Given the description of an element on the screen output the (x, y) to click on. 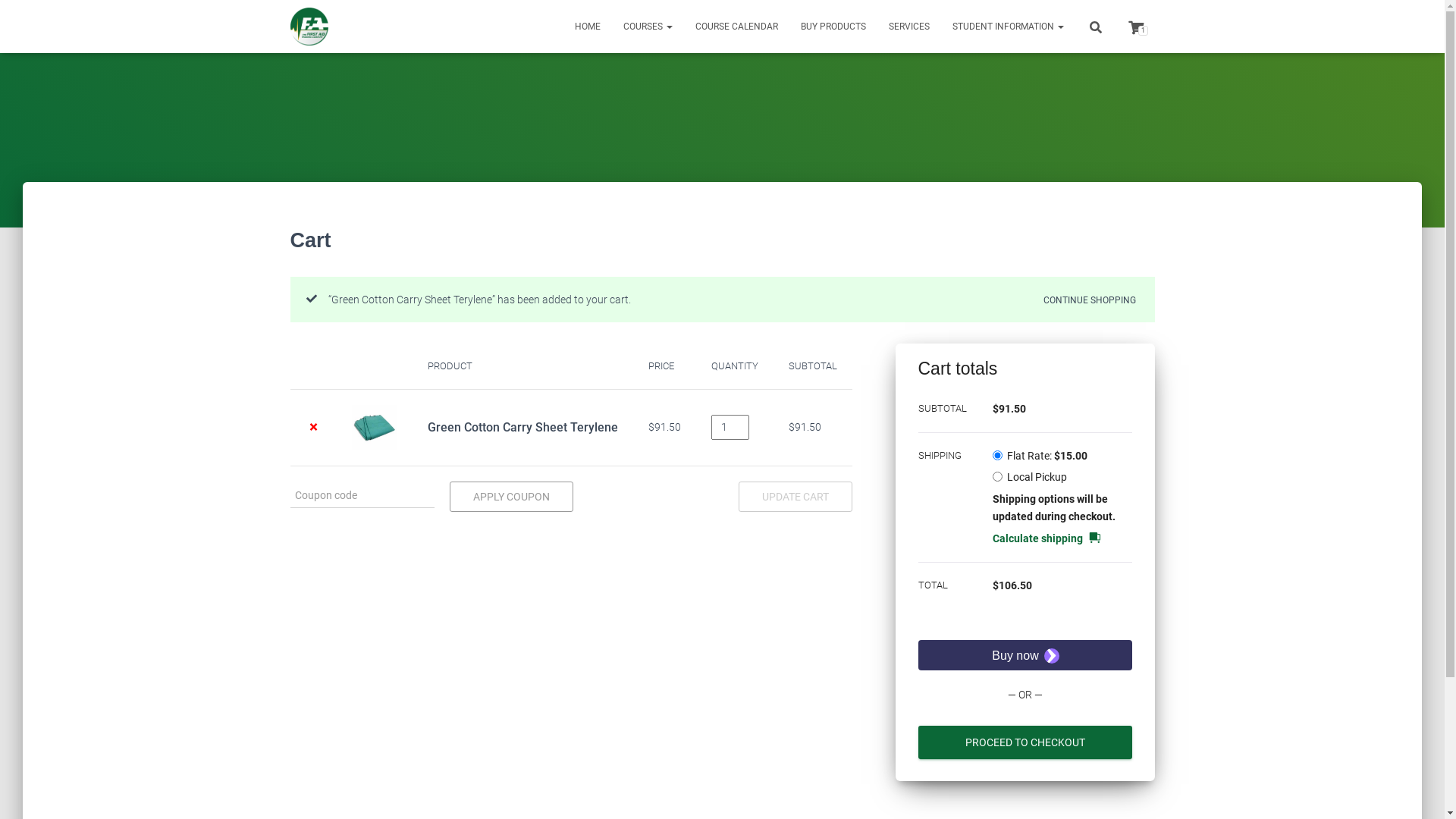
The First Aid Training Company Element type: hover (309, 26)
Search Element type: text (3, 16)
SERVICES Element type: text (908, 26)
BUY PRODUCTS Element type: text (832, 26)
COURSE CALENDAR Element type: text (736, 26)
PROCEED TO CHECKOUT Element type: text (1024, 742)
Green Cotton Carry Sheet Terylene Element type: text (522, 427)
APPLY COUPON Element type: text (510, 496)
STUDENT INFORMATION Element type: text (1007, 26)
1 Element type: text (1135, 25)
CONTINUE SHOPPING Element type: text (1089, 297)
Calculate shipping Element type: text (1046, 538)
UPDATE CART Element type: text (795, 496)
COURSES Element type: text (647, 26)
HOME Element type: text (586, 26)
Secure payment button frame Element type: hover (1024, 655)
